Given the description of an element on the screen output the (x, y) to click on. 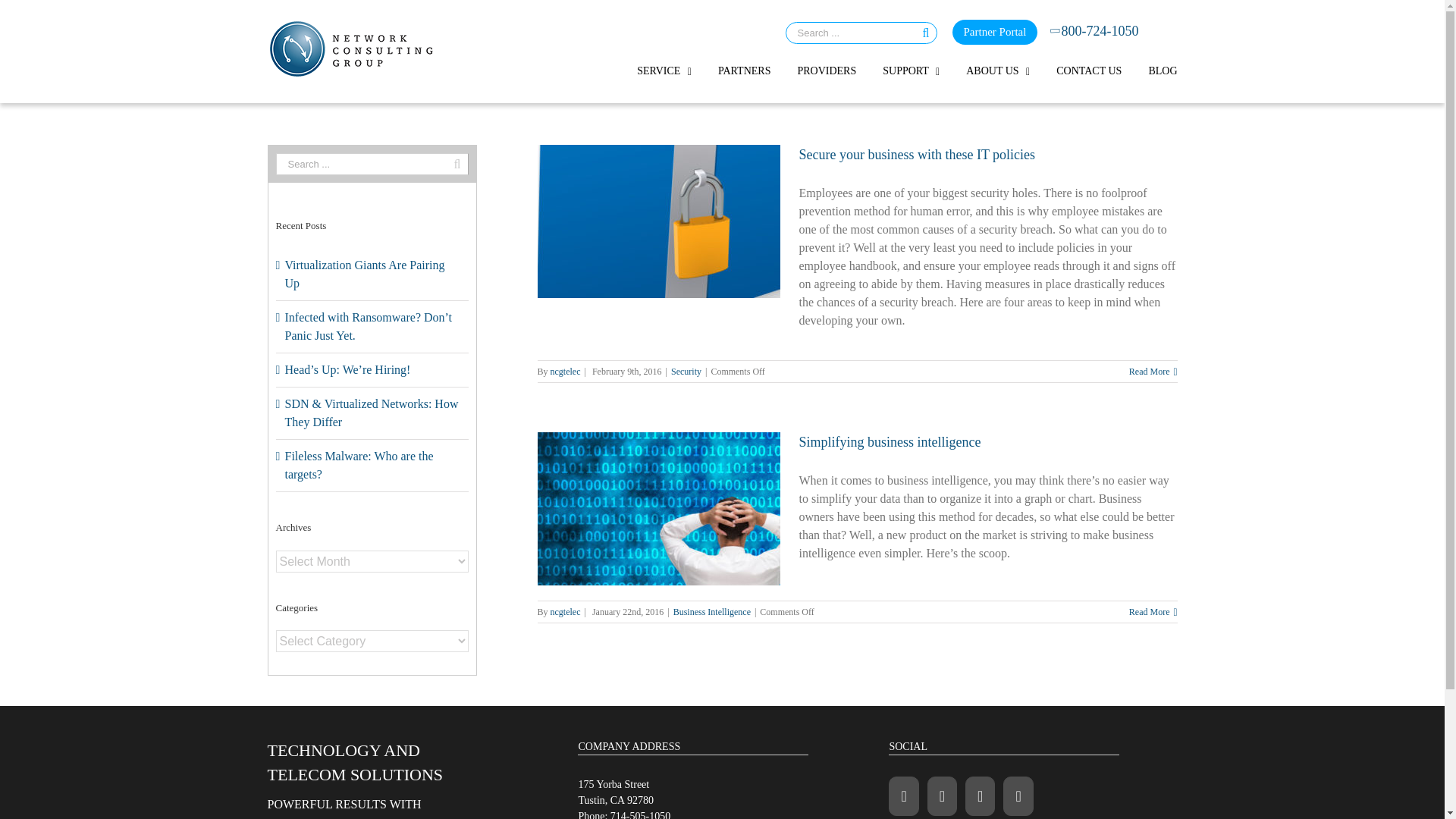
PARTNERS (743, 70)
Partner Portal (995, 32)
Posts by ncgtelec (565, 611)
800-724-1050 (1095, 31)
ncgtelec (565, 371)
SERVICE (664, 70)
SUPPORT (910, 70)
PROVIDERS (826, 70)
Posts by ncgtelec (565, 371)
Read More (1149, 371)
